Given the description of an element on the screen output the (x, y) to click on. 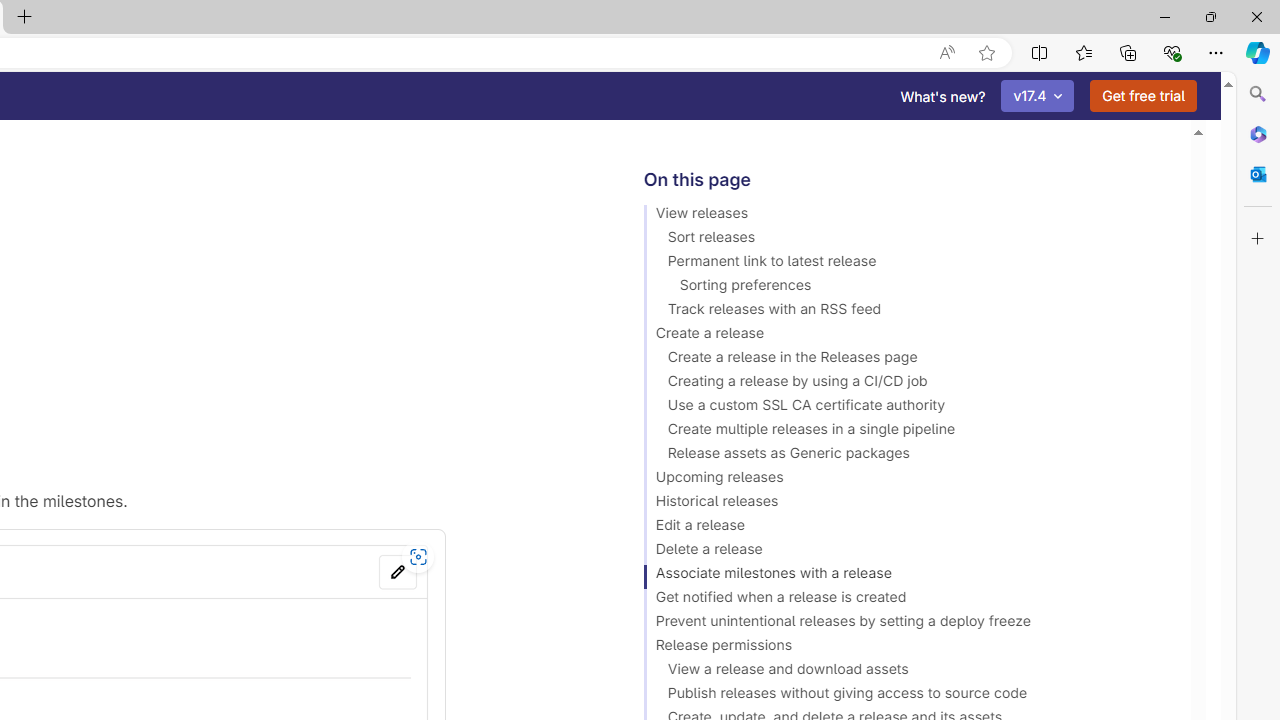
Track releases with an RSS feed (908, 312)
Delete a release (908, 552)
Creating a release by using a CI/CD job (908, 384)
Use a custom SSL CA certificate authority (908, 408)
Create multiple releases in a single pipeline (908, 431)
What's new? (943, 96)
Create a release (908, 336)
Use a custom SSL CA certificate authority (908, 408)
Sorting preferences (908, 287)
Upcoming releases (908, 480)
